Given the description of an element on the screen output the (x, y) to click on. 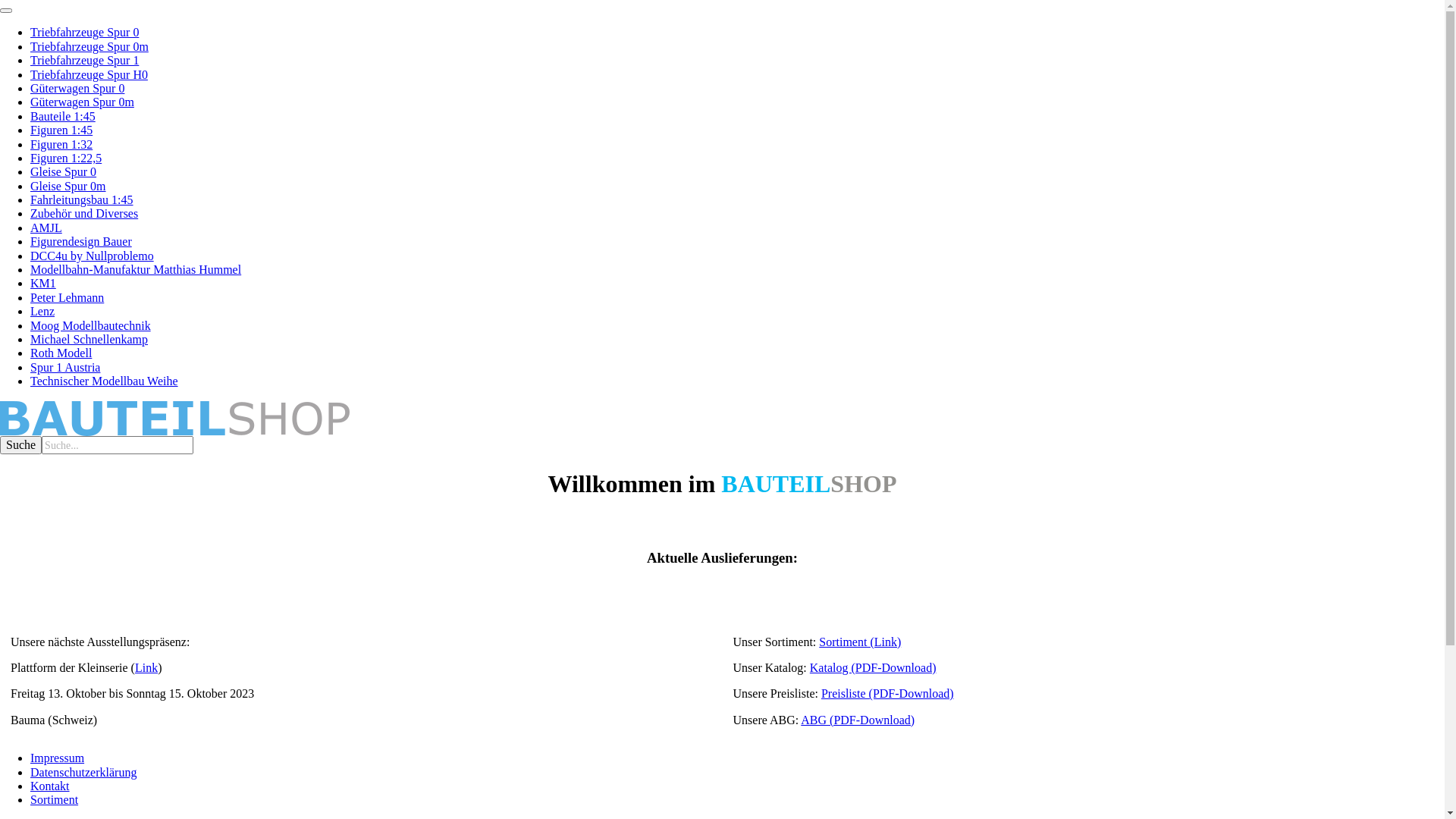
Figuren 1:45 Element type: text (61, 129)
Moog Modellbautechnik Element type: text (90, 325)
Impressum Element type: text (57, 757)
Technischer Modellbau Weihe Element type: text (104, 380)
Gleise Spur 0m Element type: text (68, 185)
Roth Modell Element type: text (60, 352)
Triebfahrzeuge Spur 0m Element type: text (89, 46)
Kontakt Element type: text (49, 785)
Figuren 1:32 Element type: text (61, 144)
Link Element type: text (145, 667)
Sortiment Element type: text (54, 799)
Suche Element type: text (20, 445)
DCC4u by Nullproblemo Element type: text (91, 255)
Triebfahrzeuge Spur H0 Element type: text (88, 74)
Figurendesign Bauer Element type: text (80, 241)
Figuren 1:22,5 Element type: text (65, 157)
Modellbahn-Manufaktur Matthias Hummel Element type: text (135, 269)
Bauteile 1:45 Element type: text (62, 115)
Lenz Element type: text (42, 310)
Michael Schnellenkamp Element type: text (88, 338)
BauteilShop Element type: hover (722, 418)
Preisliste (PDF-Download) Element type: text (887, 693)
Katalog (PDF-Download) Element type: text (872, 667)
KM1 Element type: text (43, 282)
Sortiment (Link) Element type: text (859, 641)
ABG (PDF-Download) Element type: text (857, 719)
Spur 1 Austria Element type: text (65, 366)
Peter Lehmann Element type: text (66, 297)
Fahrleitungsbau 1:45 Element type: text (81, 199)
Triebfahrzeuge Spur 1 Element type: text (84, 59)
AMJL Element type: text (46, 227)
Gleise Spur 0 Element type: text (63, 171)
Triebfahrzeuge Spur 0 Element type: text (84, 31)
